Given the description of an element on the screen output the (x, y) to click on. 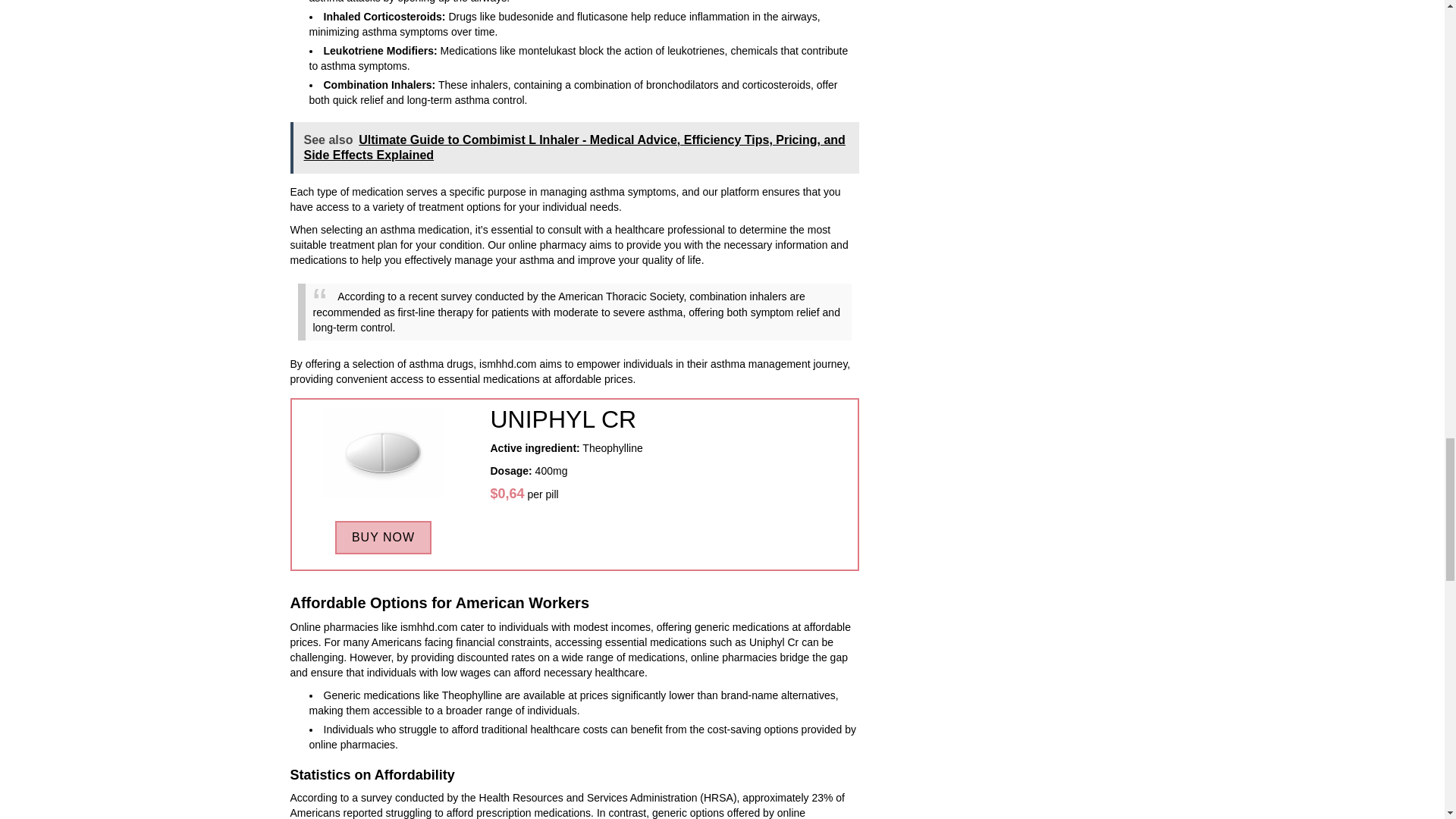
BUY NOW (382, 537)
